Given the description of an element on the screen output the (x, y) to click on. 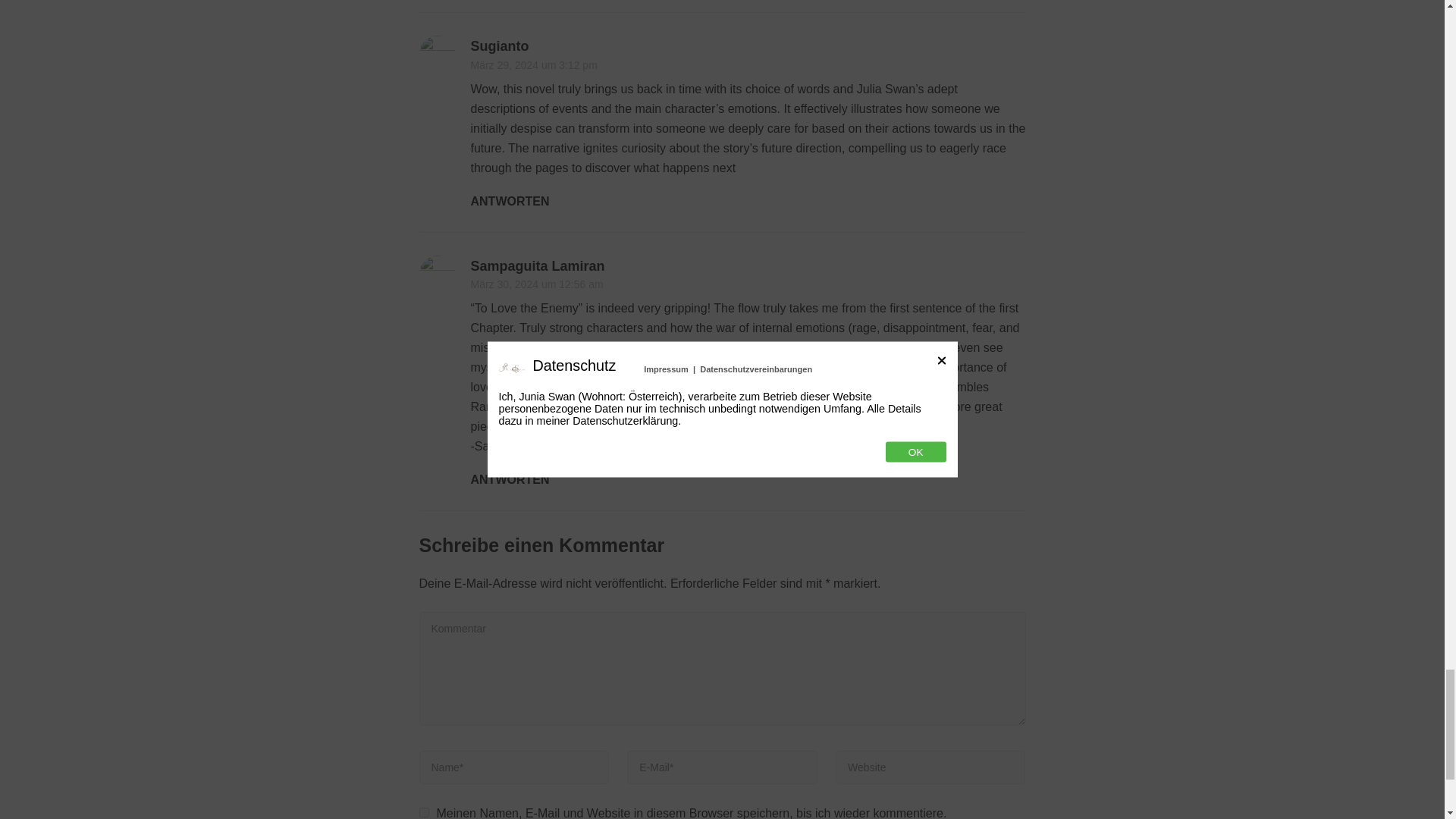
yes (423, 812)
